Given the description of an element on the screen output the (x, y) to click on. 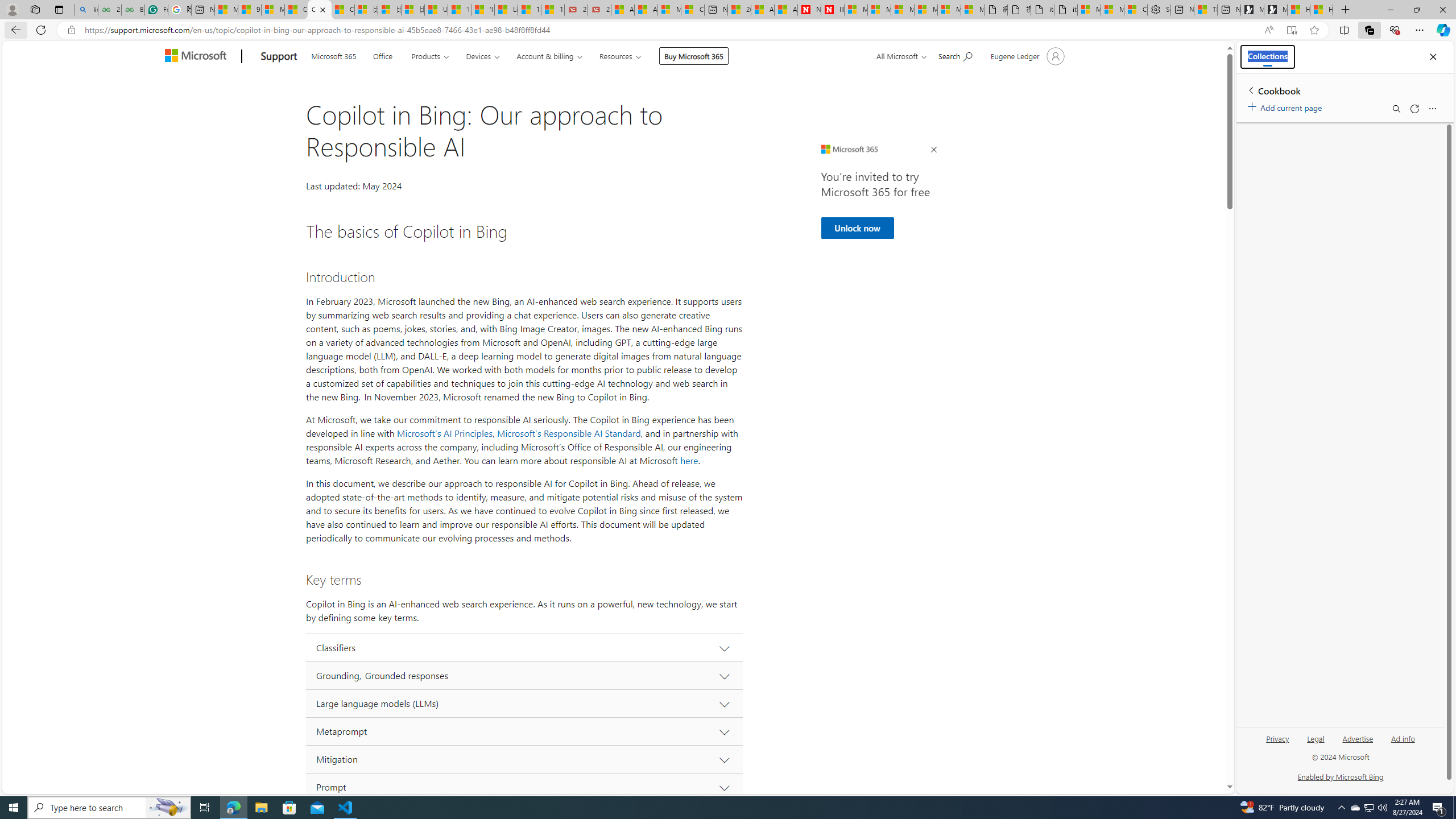
itconcepthk.com/projector_solutions.mp4 (1065, 9)
Illness news & latest pictures from Newsweek.com (832, 9)
Office (382, 54)
Microsoft (197, 56)
Unlock now (857, 228)
Search for help (954, 54)
